Given the description of an element on the screen output the (x, y) to click on. 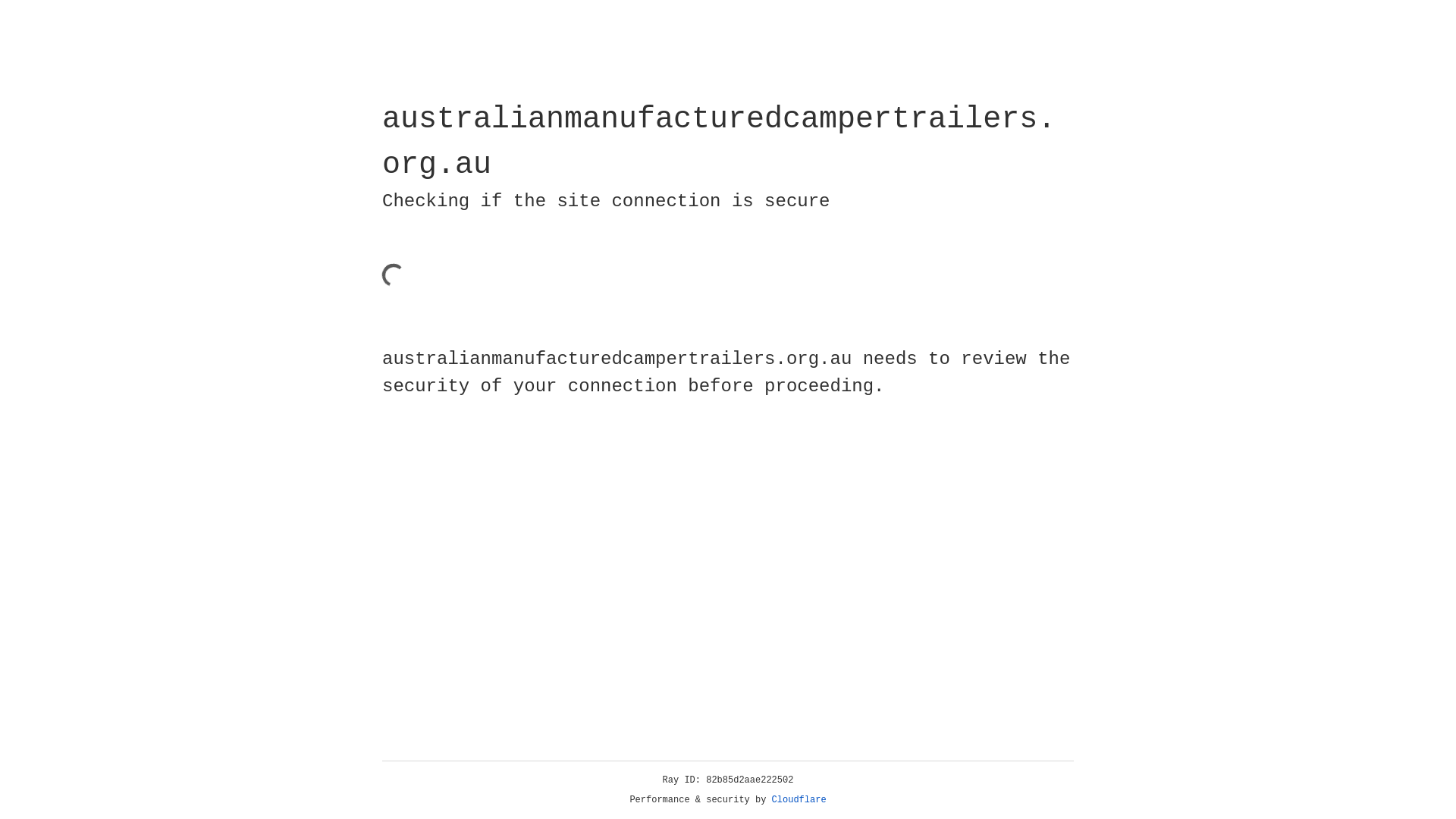
Cloudflare Element type: text (798, 799)
